Given the description of an element on the screen output the (x, y) to click on. 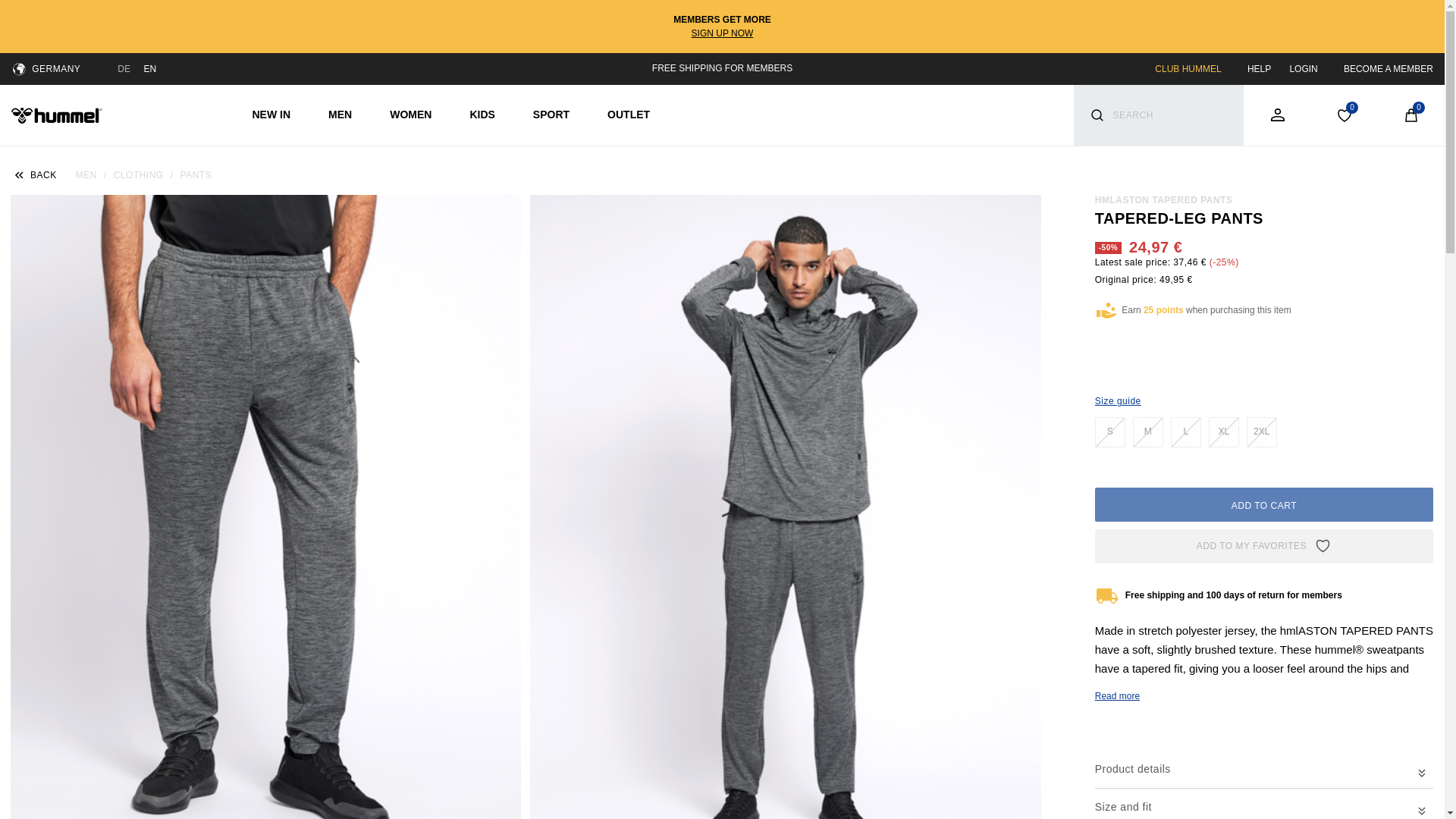
Hummel.dk (56, 113)
MEN (340, 114)
CLUB HUMMEL (1187, 68)
My Cart 0 Items (1410, 115)
EN (148, 68)
SIGN UP NOW (722, 32)
null (1185, 431)
DE (124, 68)
BECOME A MEMBER (1387, 68)
NEW IN (270, 114)
